Given the description of an element on the screen output the (x, y) to click on. 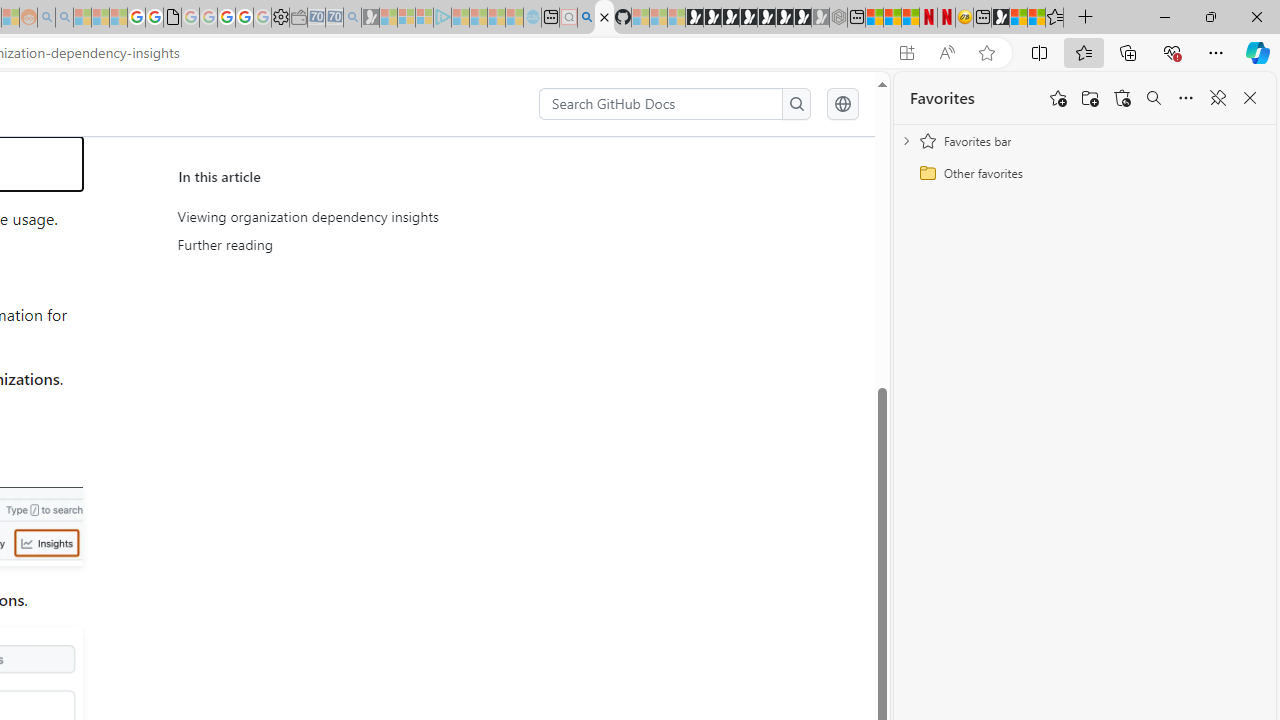
Wildlife - MSN (1017, 17)
Viewing organization dependency insights (362, 217)
Select language: current language is English (842, 103)
